Given the description of an element on the screen output the (x, y) to click on. 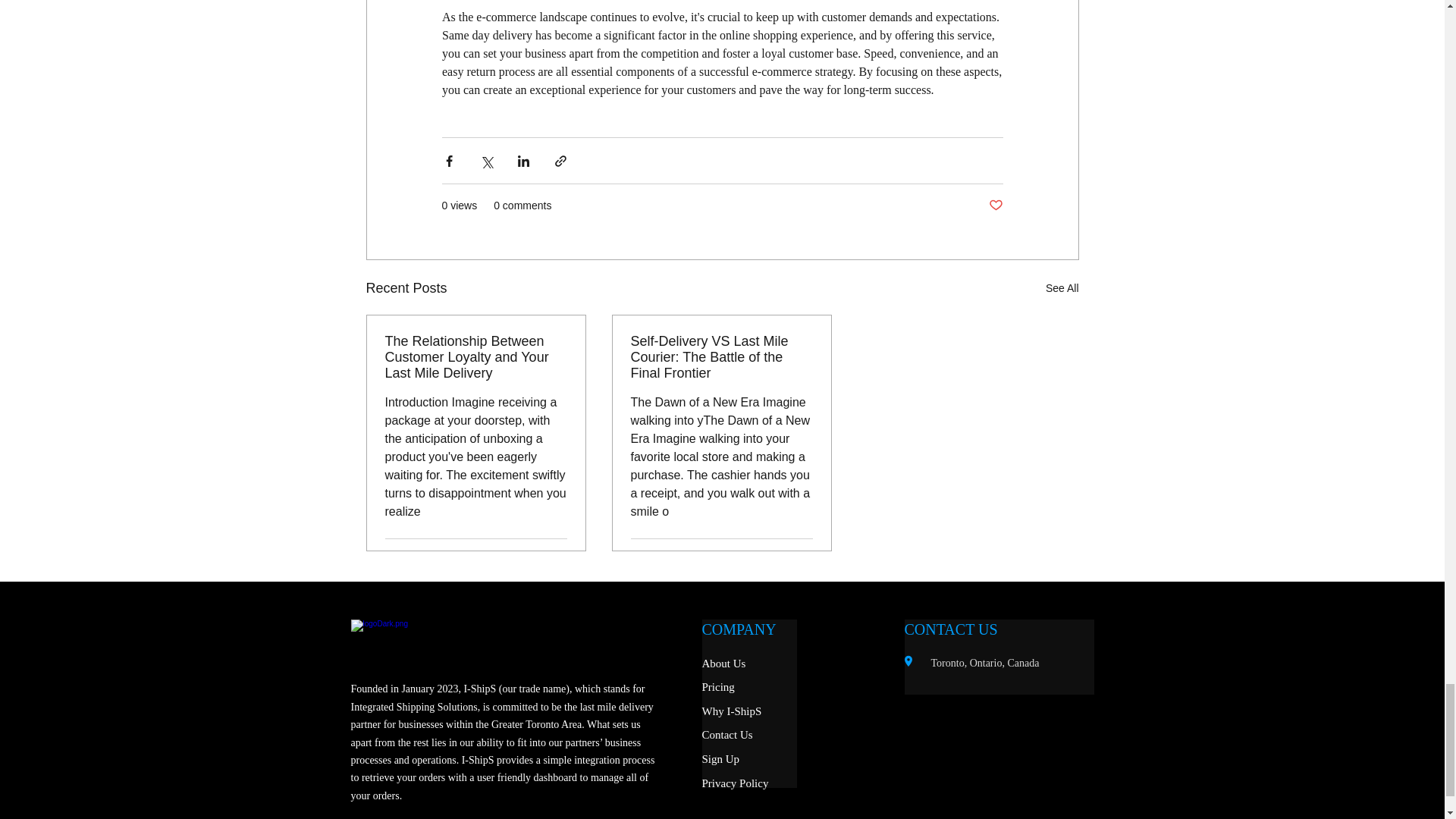
Pricing (718, 686)
Why I-ShipS (731, 711)
See All (1061, 288)
About Us (723, 663)
Post not marked as liked (558, 557)
Privacy Policy (734, 783)
Sign Up (720, 758)
Post not marked as liked (804, 557)
Post not marked as liked (995, 205)
Contact Us (726, 734)
